Given the description of an element on the screen output the (x, y) to click on. 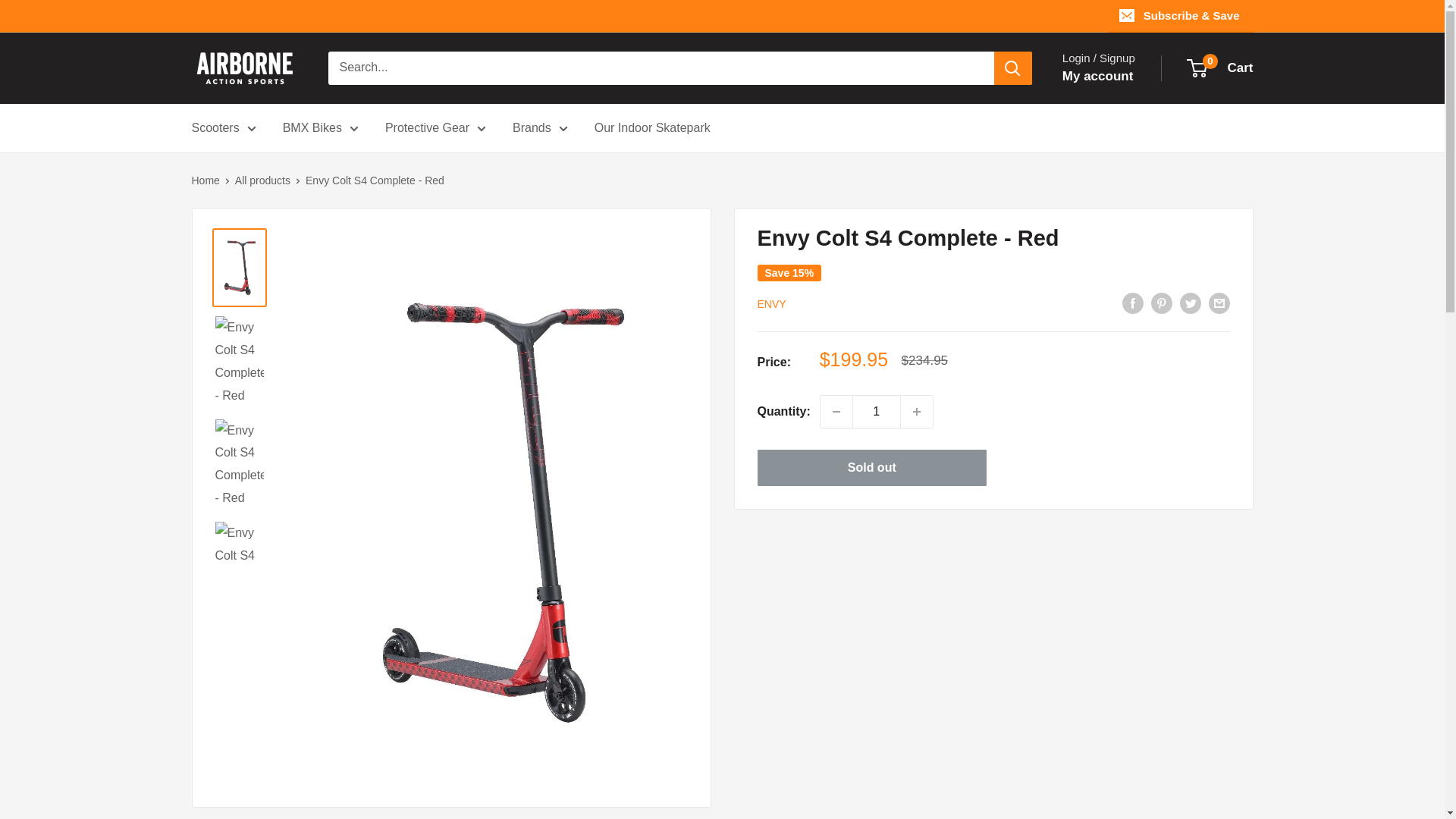
1 (876, 411)
Increase quantity by 1 (917, 411)
Decrease quantity by 1 (836, 411)
